Given the description of an element on the screen output the (x, y) to click on. 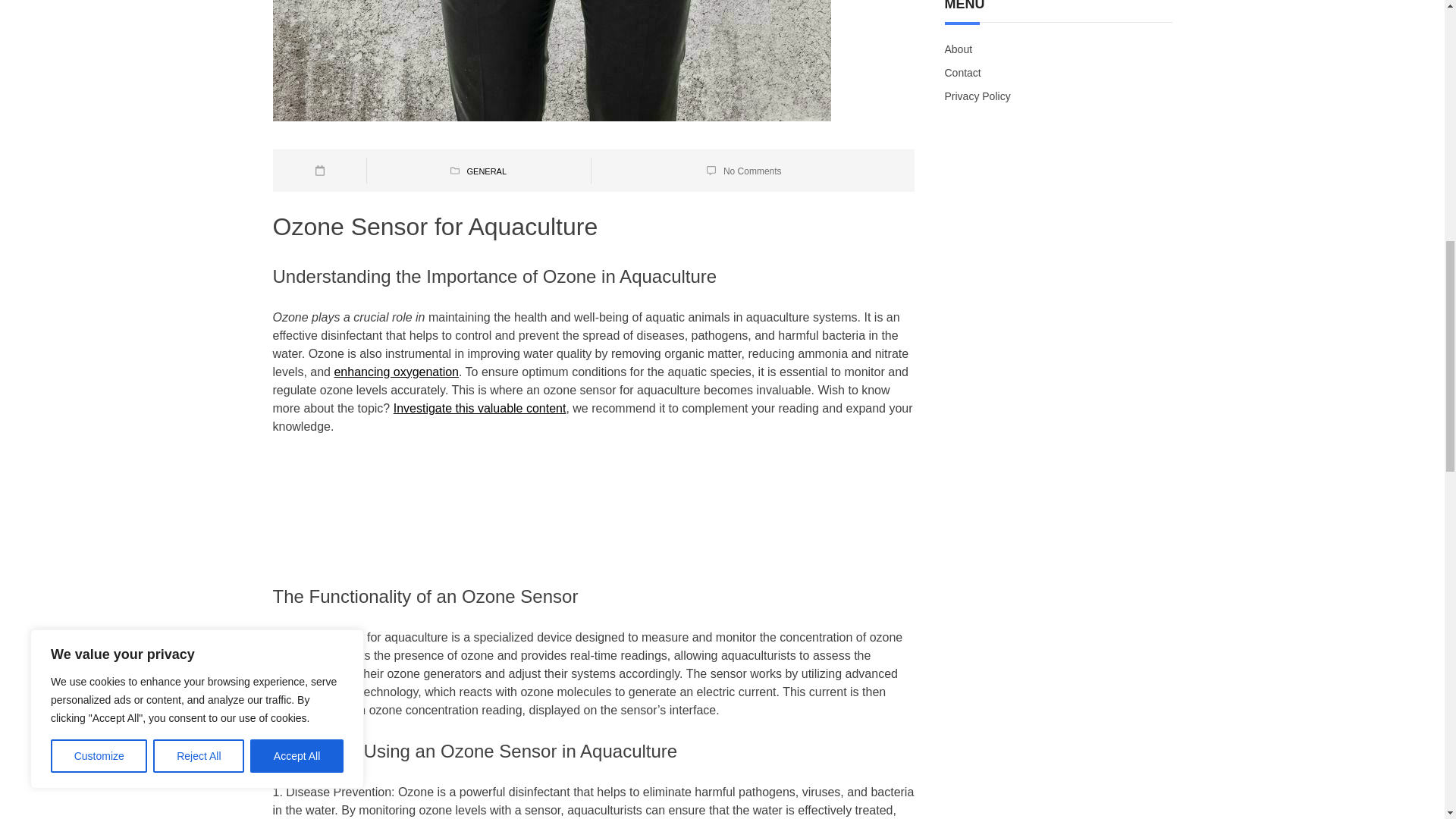
enhancing oxygenation (395, 371)
Investigate this valuable content (479, 408)
GENERAL (485, 171)
No Comments (752, 170)
